Given the description of an element on the screen output the (x, y) to click on. 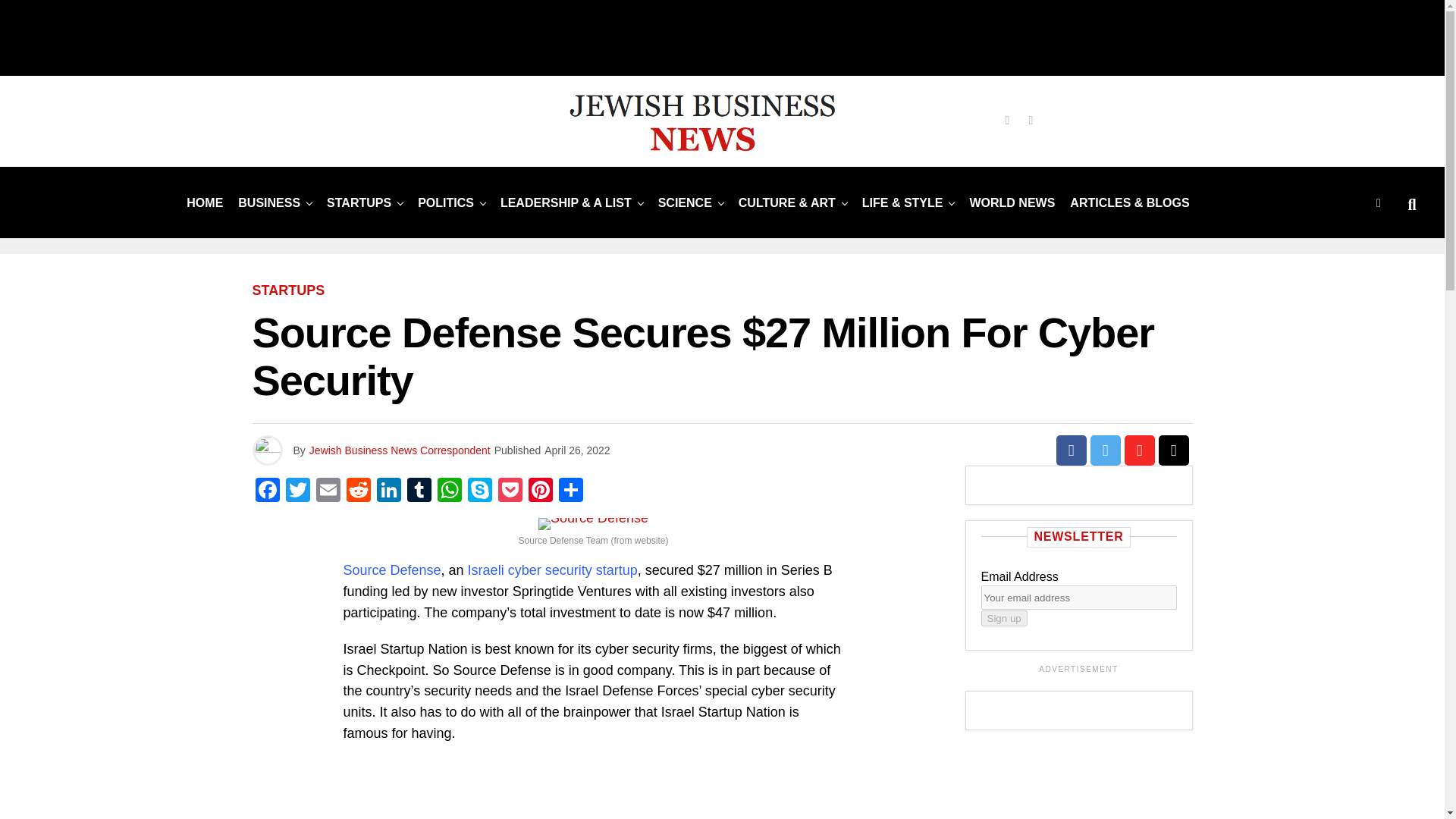
Reddit (357, 491)
Twitter (297, 491)
Sign up (1004, 618)
Facebook (266, 491)
Tumblr (418, 491)
New Research (684, 203)
Email (327, 491)
Tweet This Post (1105, 450)
LinkedIn (387, 491)
Share on Facebook (1070, 450)
Posts by Jewish Business News Correspondent (399, 450)
Share on Flipboard (1139, 450)
WhatsApp (448, 491)
